Given the description of an element on the screen output the (x, y) to click on. 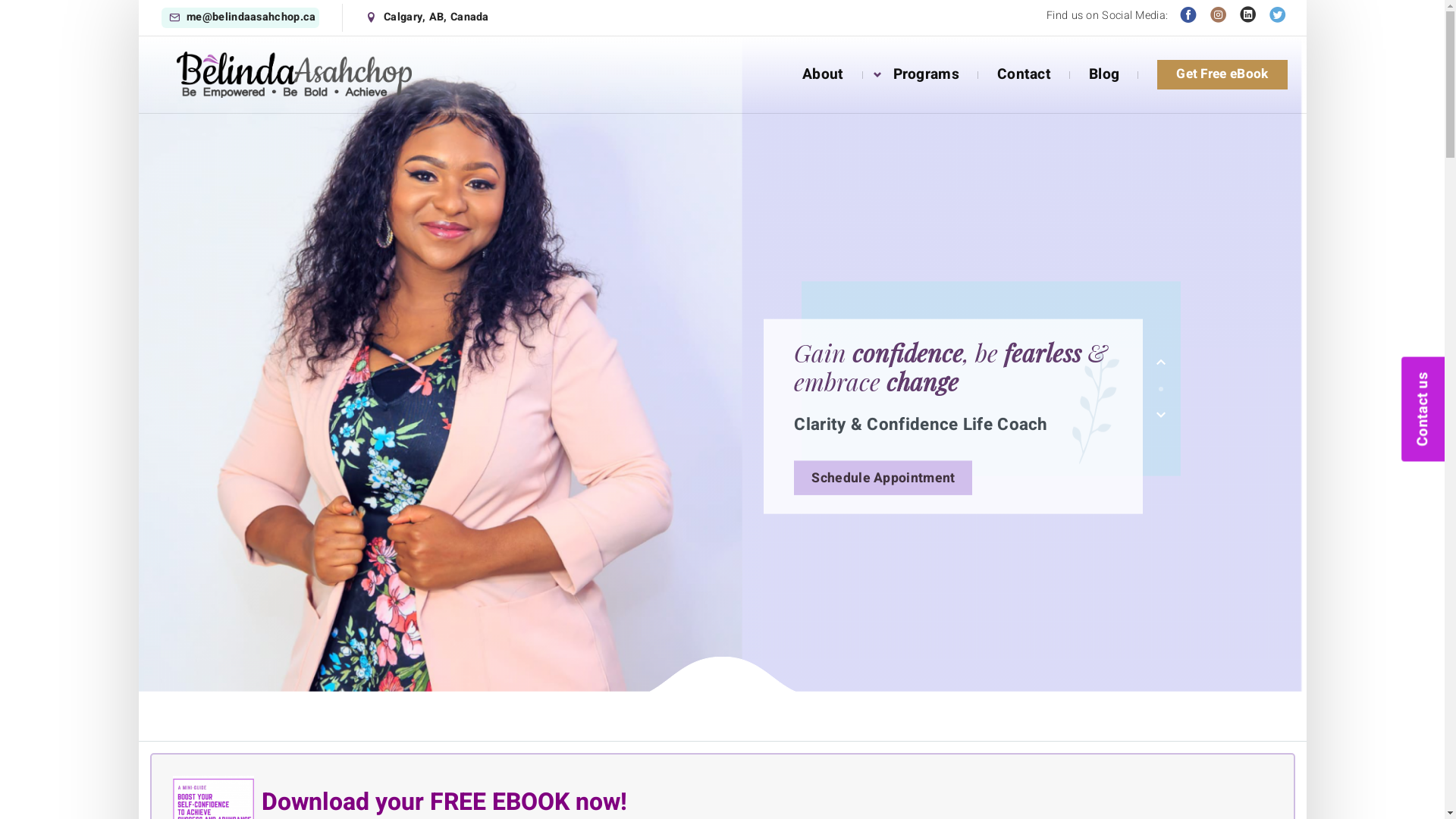
Contact Element type: text (1024, 74)
Get Free eBook Element type: text (1221, 74)
About Element type: text (823, 74)
Schedule Appointment Element type: text (882, 478)
Programs Element type: text (926, 74)
Blog Element type: text (1103, 74)
